Given the description of an element on the screen output the (x, y) to click on. 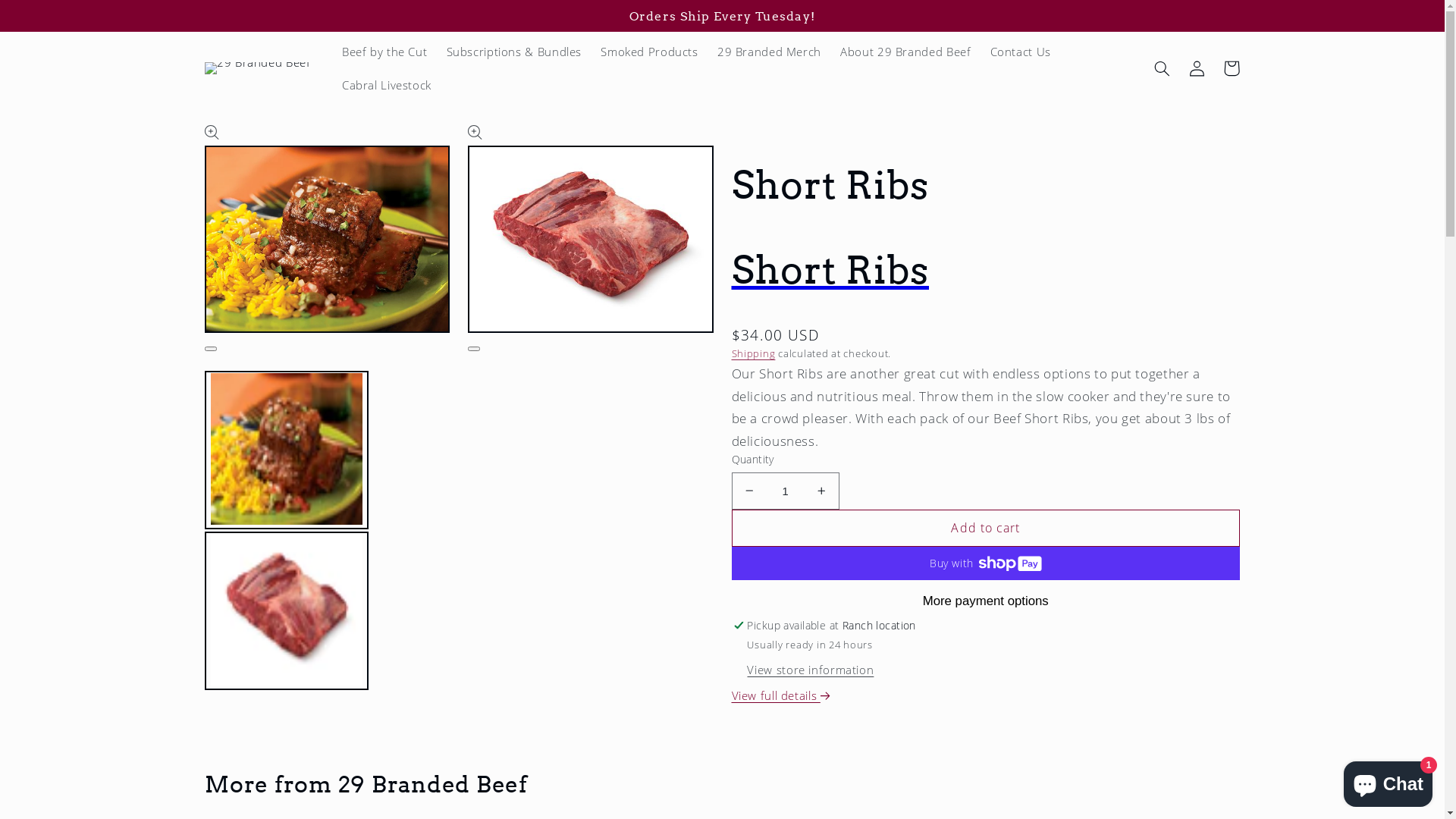
Subscriptions & Bundles Element type: text (513, 51)
Cabral Livestock Element type: text (386, 84)
Log in Element type: text (1196, 67)
About 29 Branded Beef Element type: text (905, 51)
View full details Element type: text (781, 696)
Add to cart Element type: text (985, 527)
Beef by the Cut Element type: text (384, 51)
Shipping Element type: text (753, 353)
Decrease quantity for Short Ribs Element type: text (749, 490)
Contact Us Element type: text (1020, 51)
Smoked Products Element type: text (649, 51)
Short Ribs Element type: text (985, 270)
Open media 2 in modal Element type: text (473, 348)
View store information Element type: text (809, 670)
Skip to product information Element type: text (252, 141)
29 Branded Merch Element type: text (768, 51)
Shopify online store chat Element type: hover (1388, 780)
Cart Element type: text (1231, 67)
Increase quantity for Short Ribs Element type: text (820, 490)
Open media 1 in modal Element type: text (210, 348)
More payment options Element type: text (985, 601)
